Given the description of an element on the screen output the (x, y) to click on. 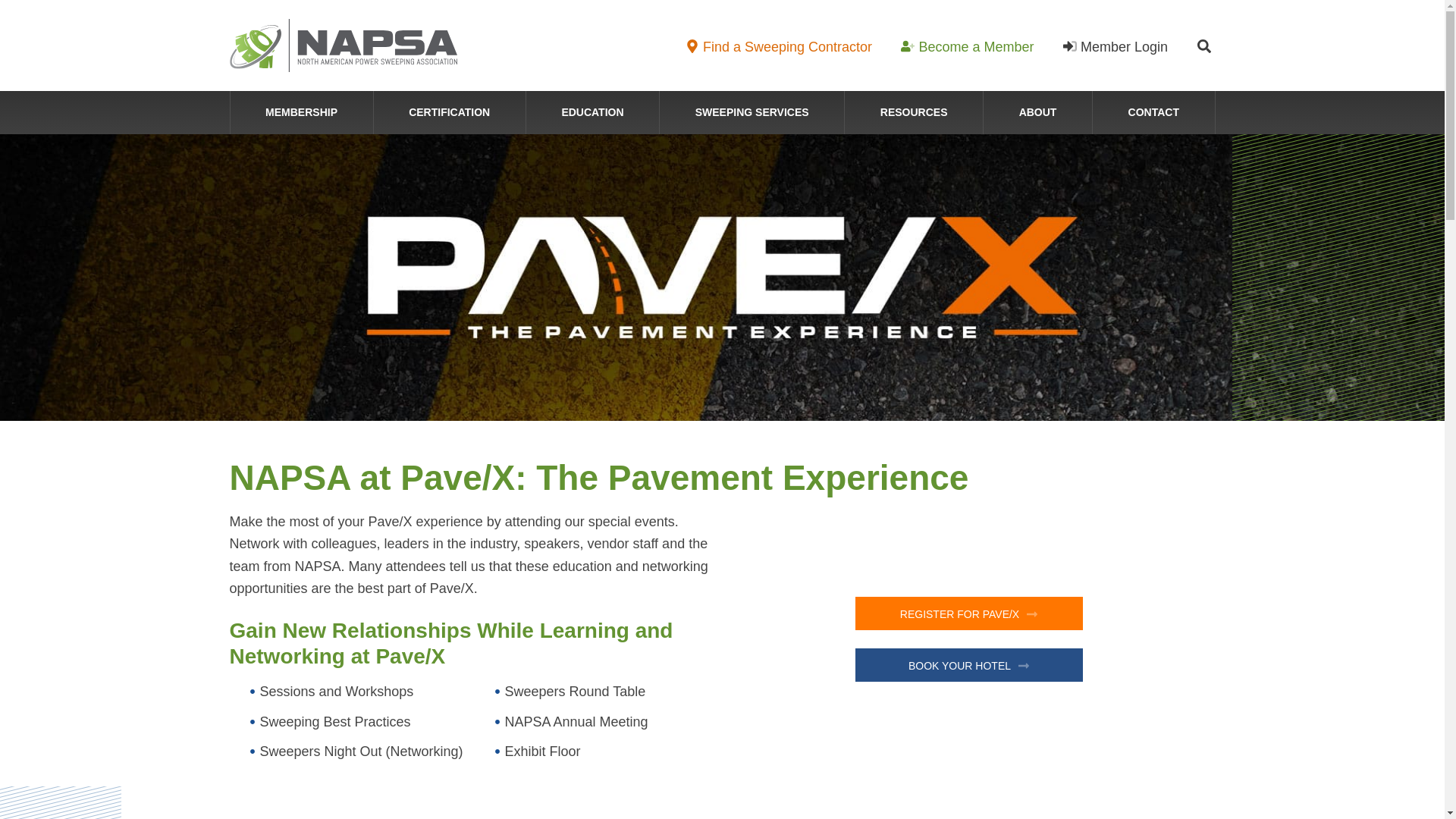
Become a Member (966, 47)
EDUCATION (592, 112)
Become a Member (966, 47)
Member Login (1115, 47)
MEMBERSHIP (301, 112)
CERTIFICATION (449, 112)
Member Login (1115, 47)
SWEEPING SERVICES (751, 112)
Find a Sweeping Contractor (778, 47)
Find a Sweeping Contractor (778, 47)
